Given the description of an element on the screen output the (x, y) to click on. 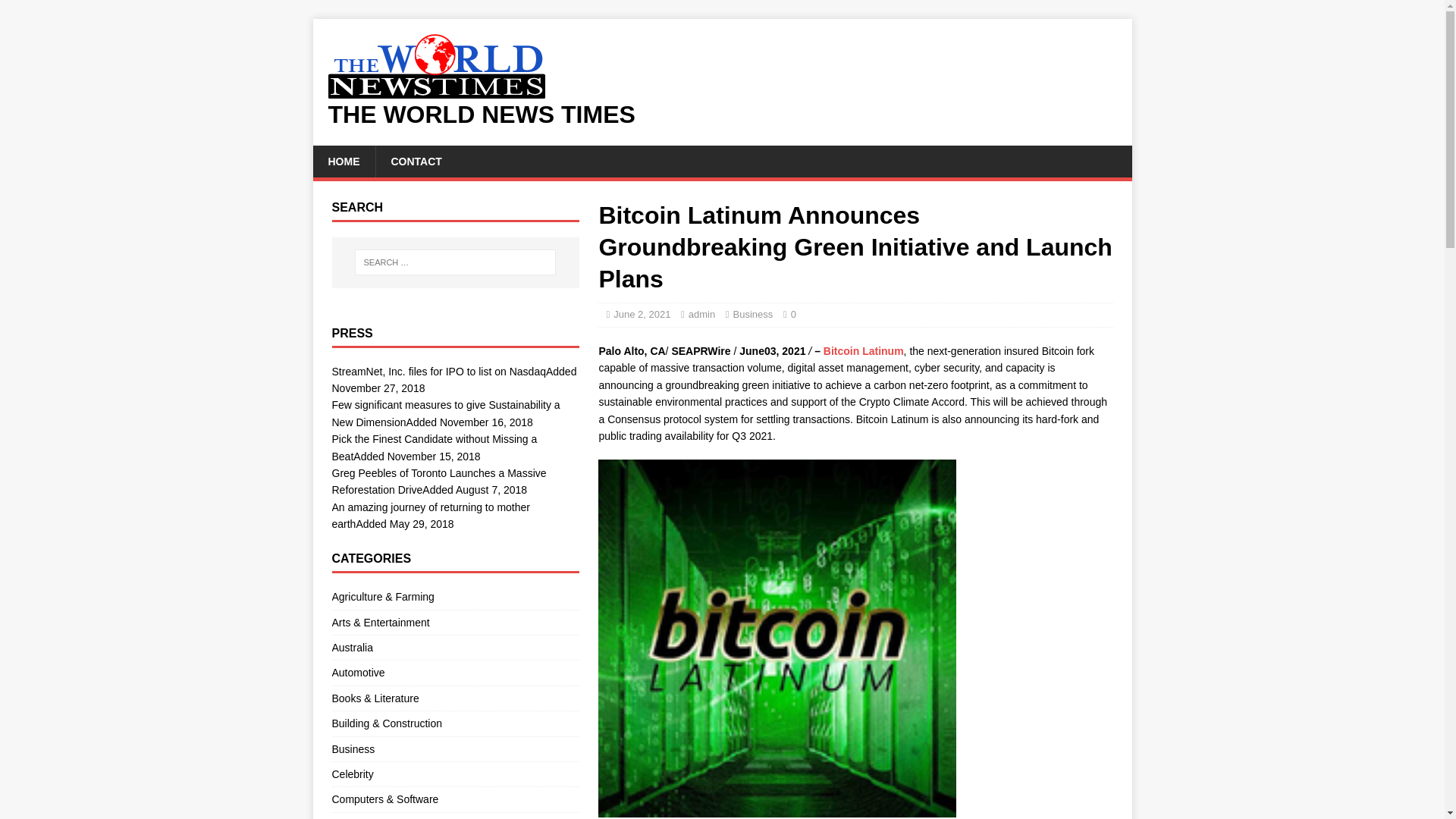
admin (701, 314)
StreamNet, Inc. files for IPO to list on Nasdaq (438, 371)
Celebrity (455, 774)
CONTACT (415, 161)
Pick the Finest Candidate without Missing a Beat (434, 447)
Business (753, 314)
THE WORLD NEWS TIMES (721, 114)
Business (455, 749)
HOME (343, 161)
